Given the description of an element on the screen output the (x, y) to click on. 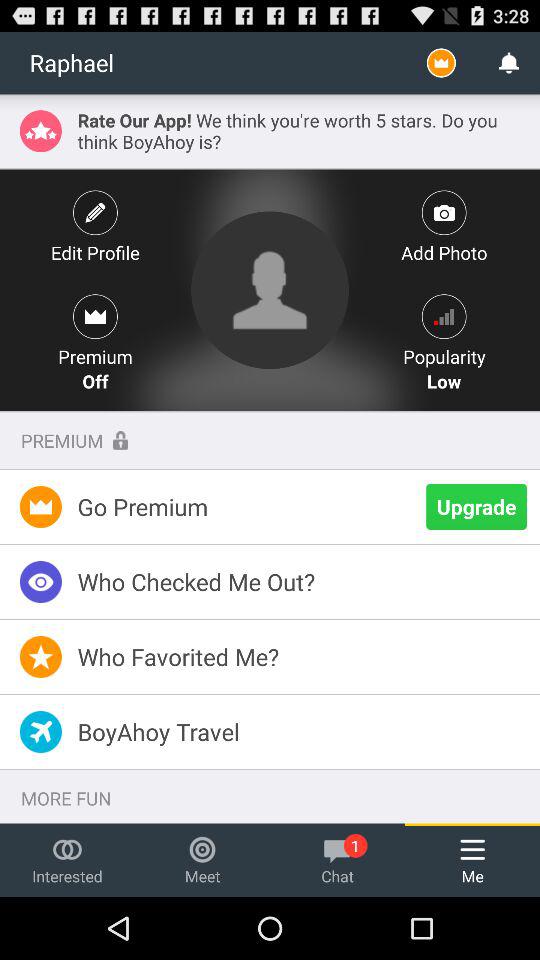
profile picture change (269, 290)
